Given the description of an element on the screen output the (x, y) to click on. 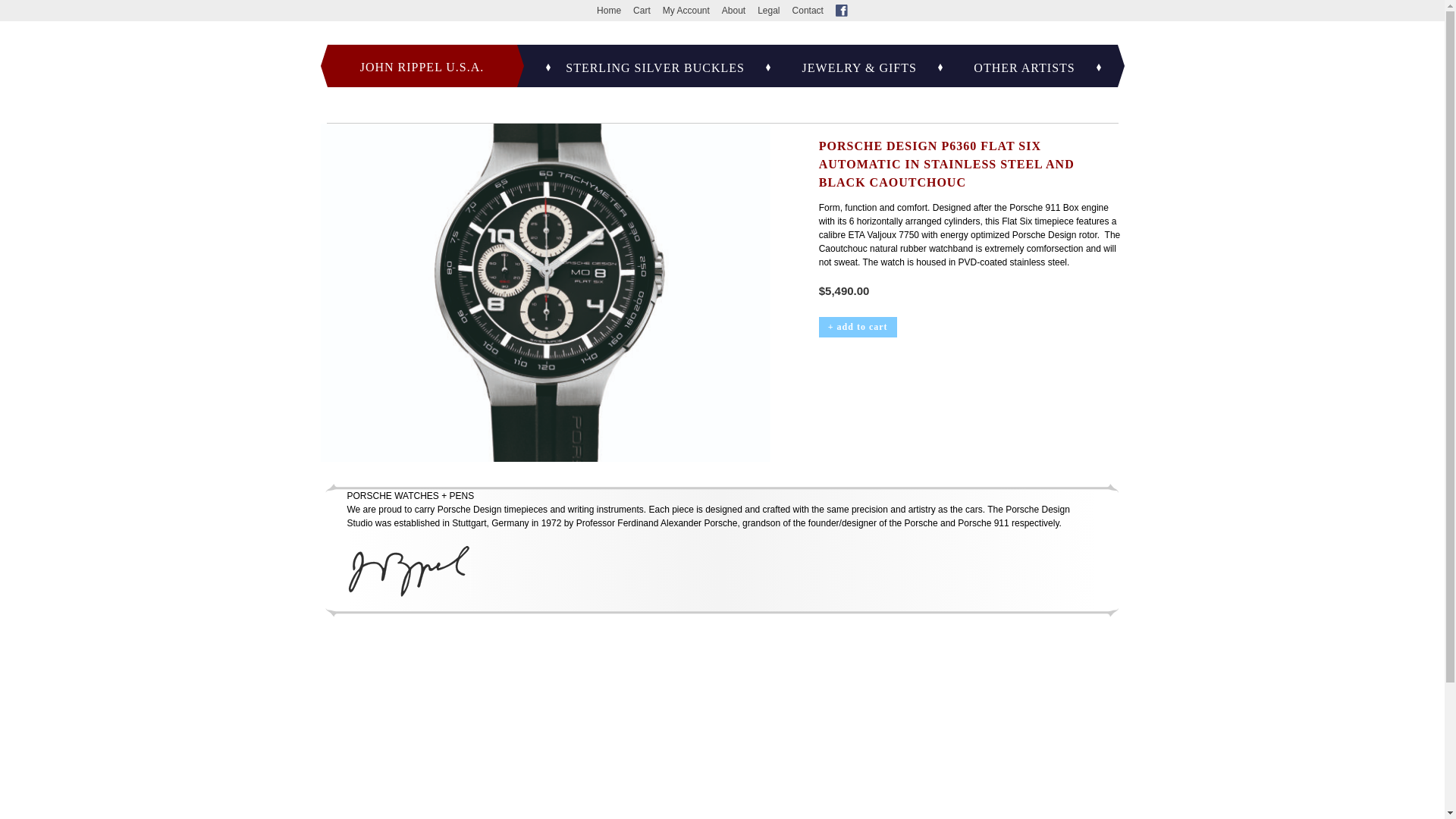
Contact (808, 9)
Home (608, 9)
JOHN RIPPEL U.S.A. (421, 65)
Facebook (841, 10)
My Account (686, 9)
OTHER ARTISTS (1024, 68)
Legal (767, 9)
PayPal (971, 372)
About (733, 9)
Cart (641, 9)
STERLING SILVER BUCKLES (655, 68)
